Given the description of an element on the screen output the (x, y) to click on. 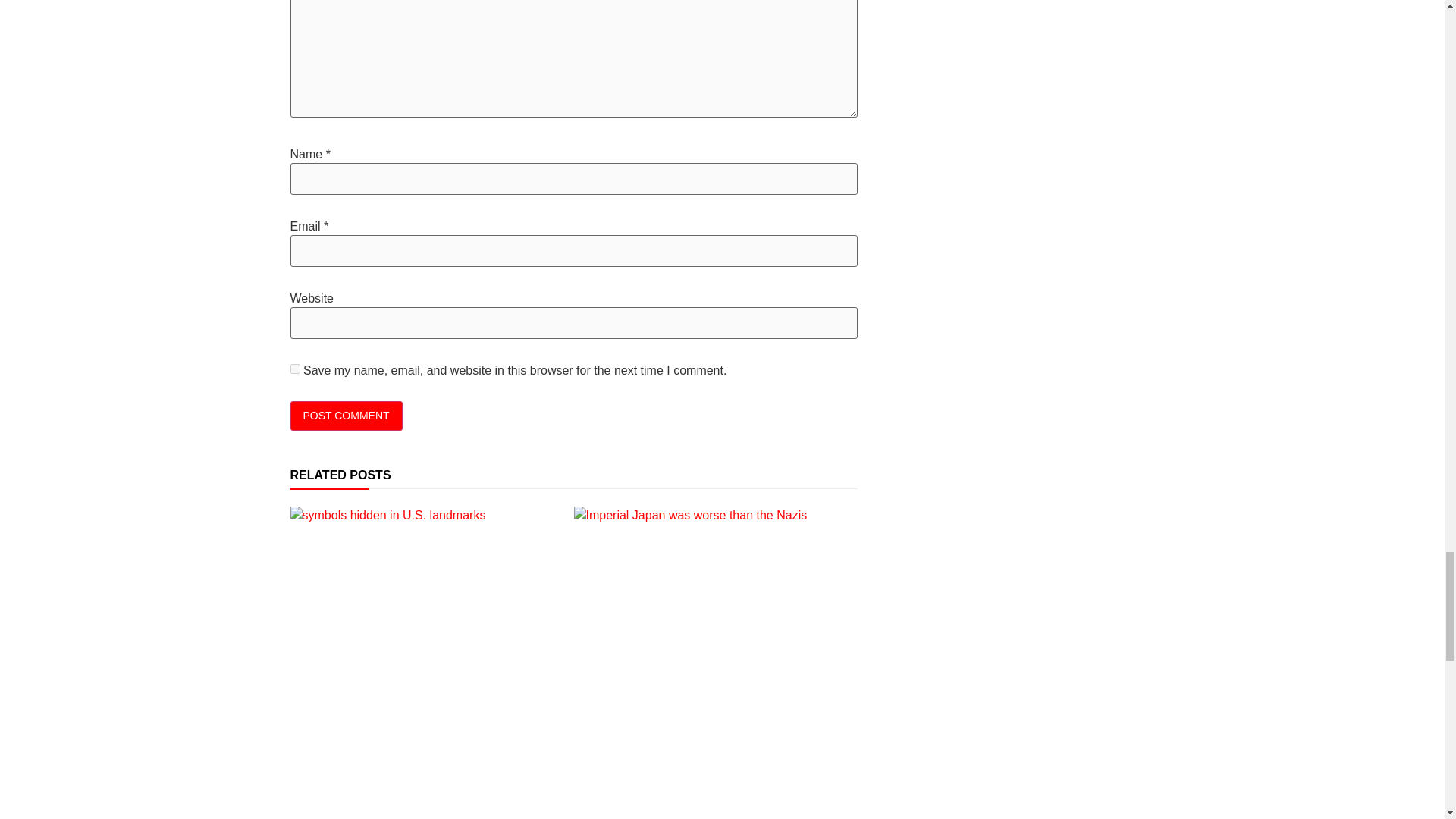
Post Comment (345, 415)
yes (294, 368)
Post Comment (345, 415)
